Given the description of an element on the screen output the (x, y) to click on. 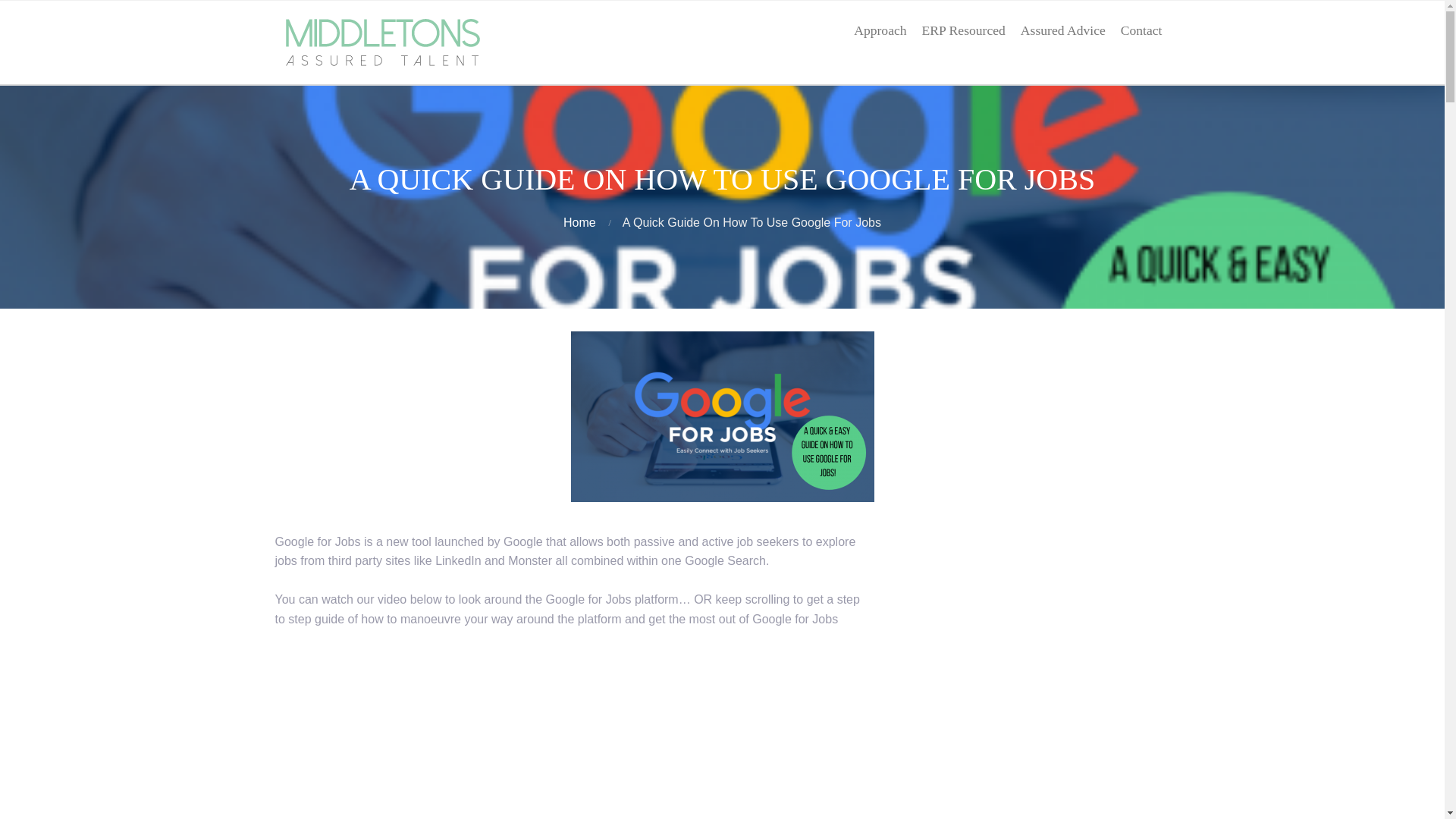
Contact (1141, 30)
Assured Advice (1063, 30)
ERP Resourced (963, 30)
Home (579, 222)
Approach (879, 30)
